Given the description of an element on the screen output the (x, y) to click on. 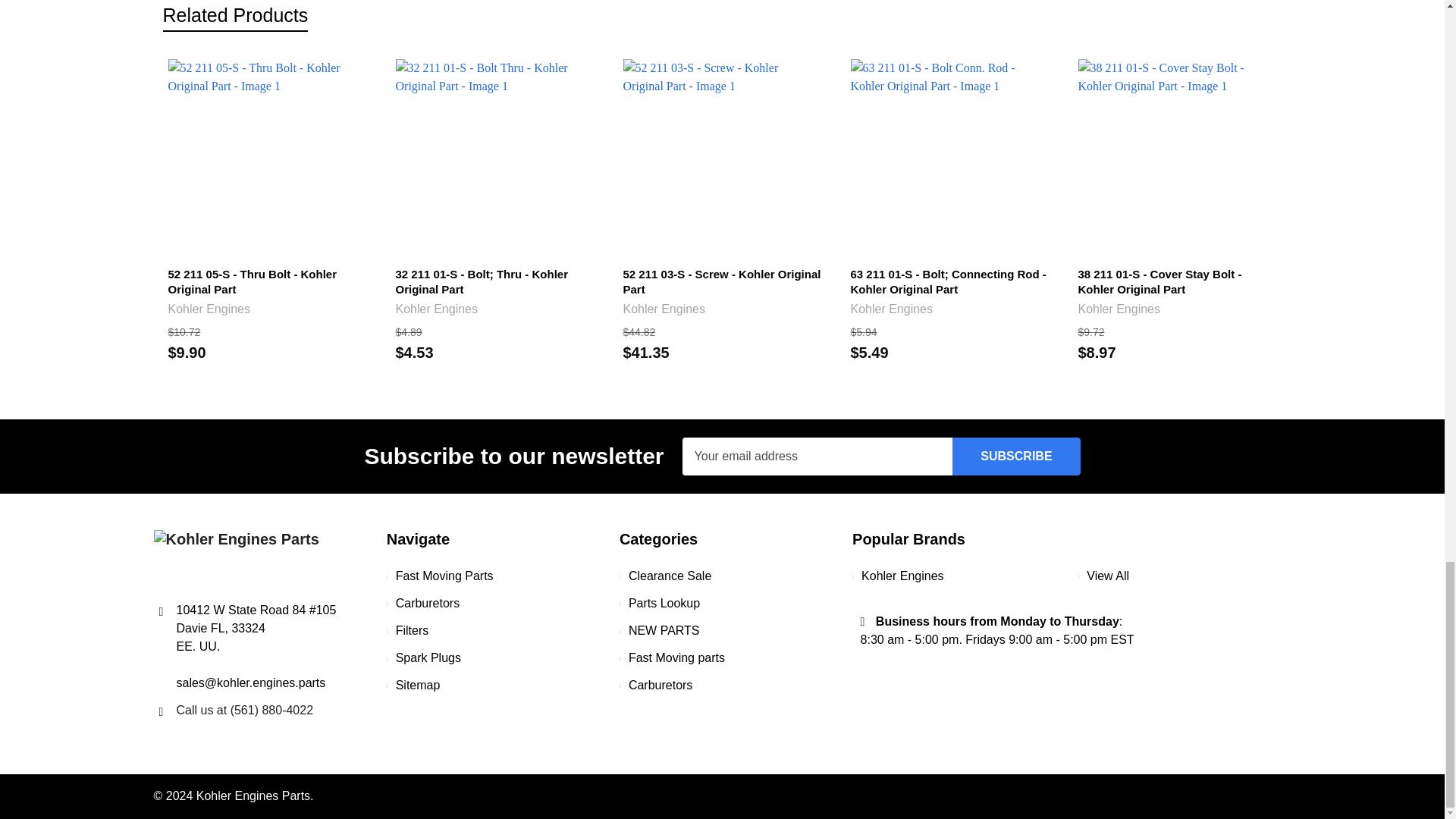
52 211 05-S - Thru Bolt - Kohler Original Part - Image 1 (267, 157)
32 211 01-S - Bolt Thru - Kohler Original Part - Image 1 (495, 157)
Kohler Engines Parts (235, 556)
52 211 03-S - Screw - Kohler Original Part - Image 1 (722, 157)
Subscribe (1016, 456)
